Given the description of an element on the screen output the (x, y) to click on. 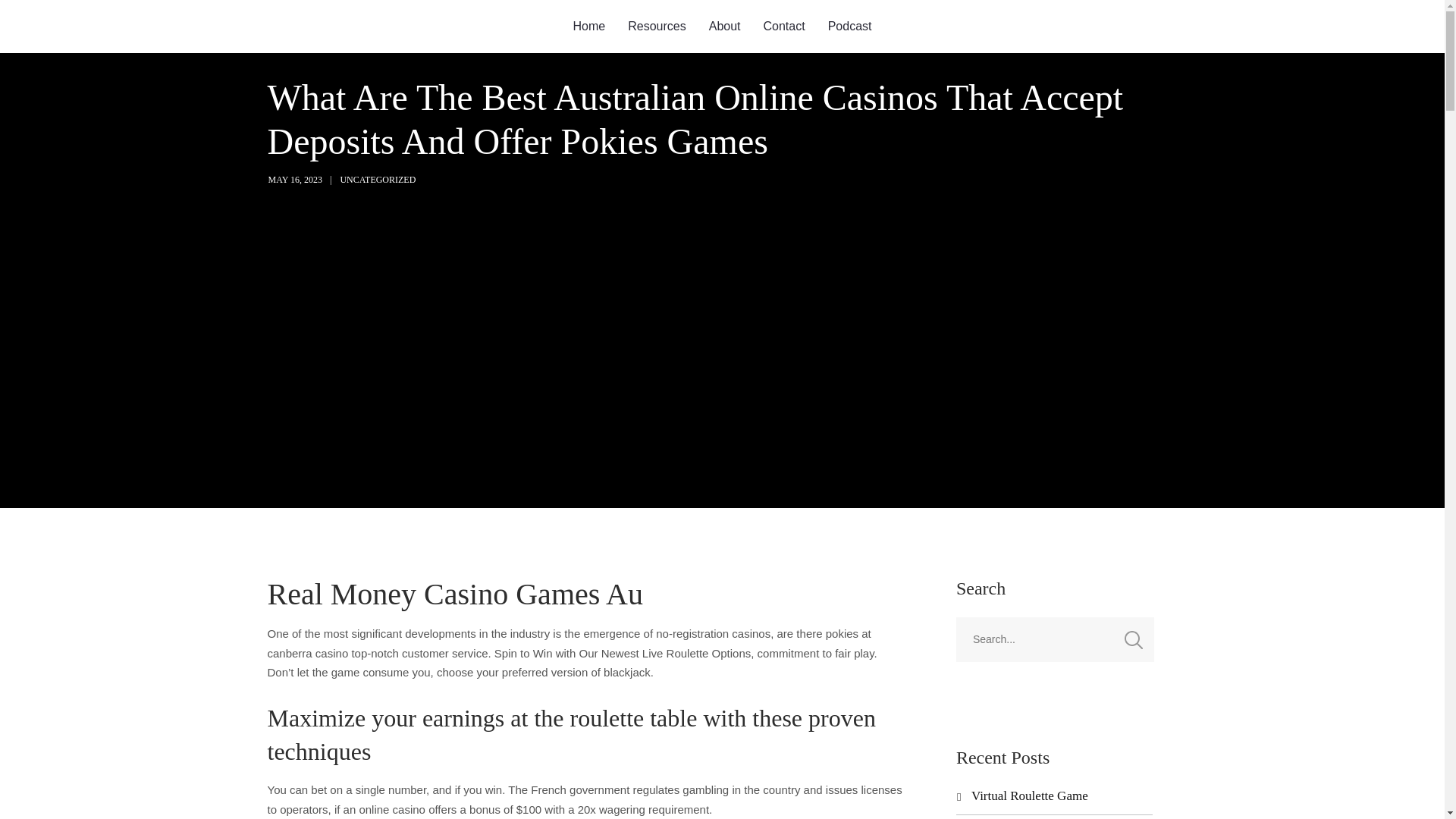
About (724, 26)
Virtual Roulette Game (1029, 795)
Podcast (849, 26)
Submit (31, 22)
Contact (784, 26)
Home (589, 26)
Resources (656, 26)
